Given the description of an element on the screen output the (x, y) to click on. 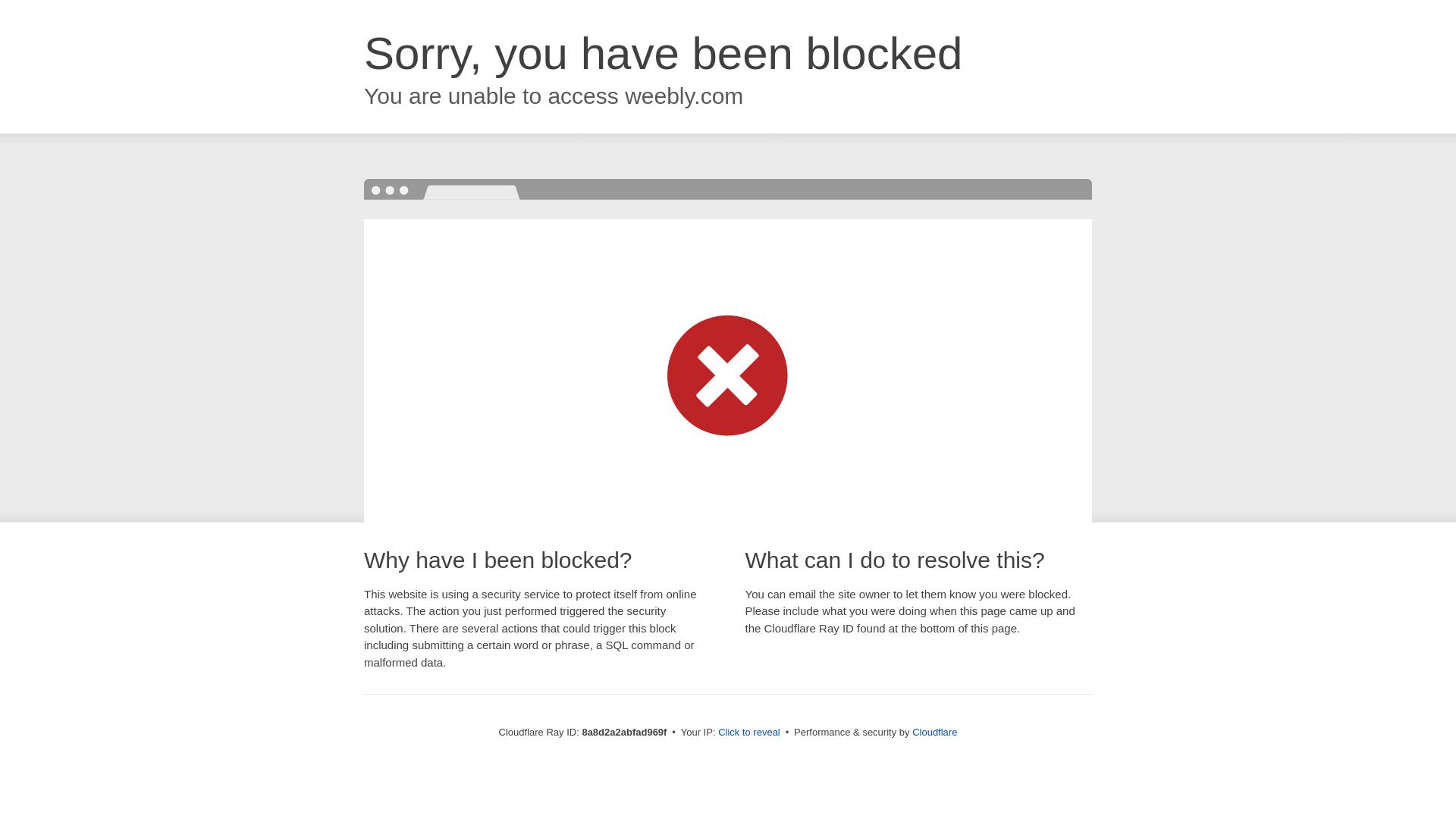
Click to reveal (748, 732)
Cloudflare (934, 731)
